Given the description of an element on the screen output the (x, y) to click on. 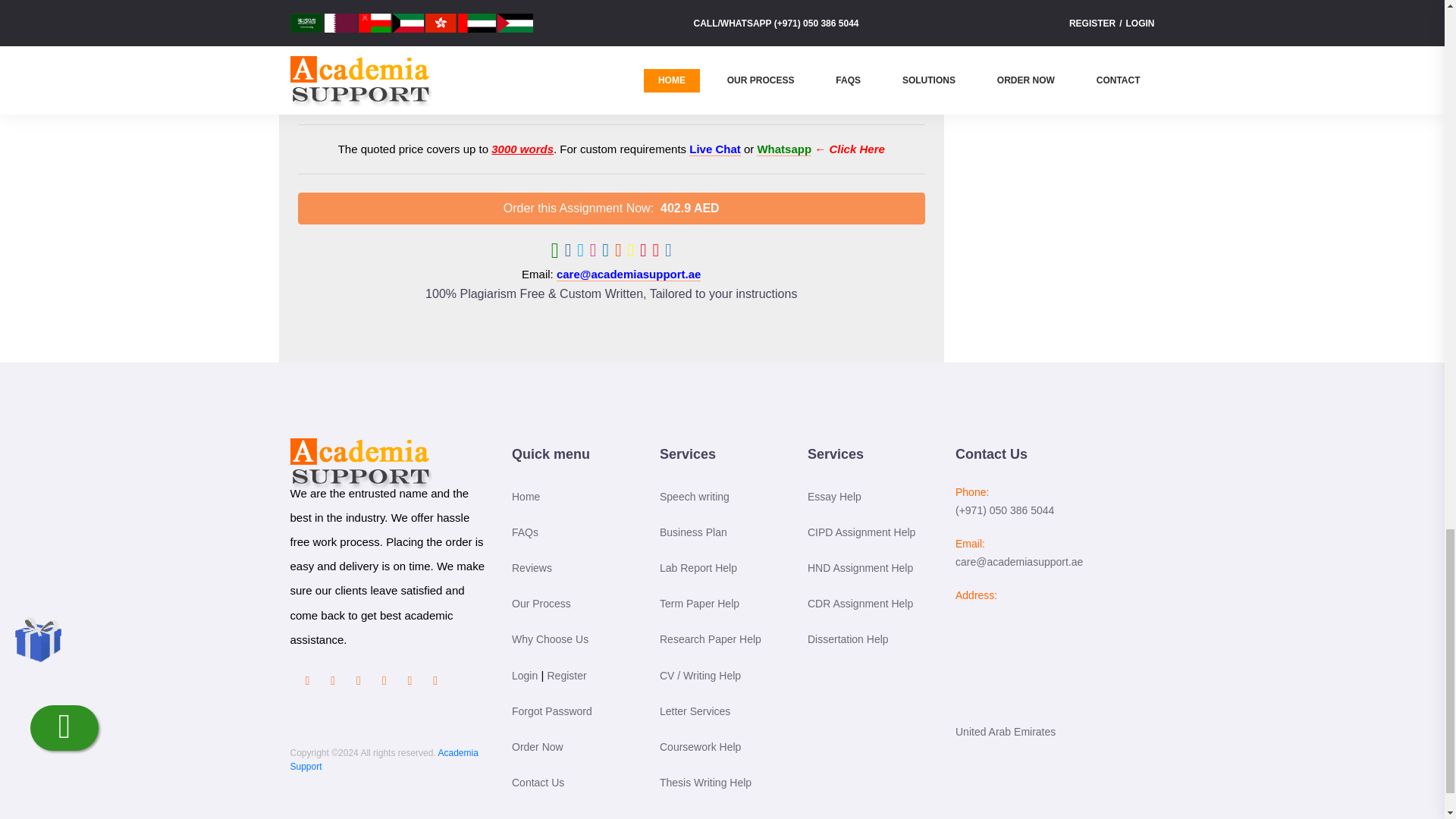
Whatsapp (783, 149)
Live Chat (714, 149)
